Given the description of an element on the screen output the (x, y) to click on. 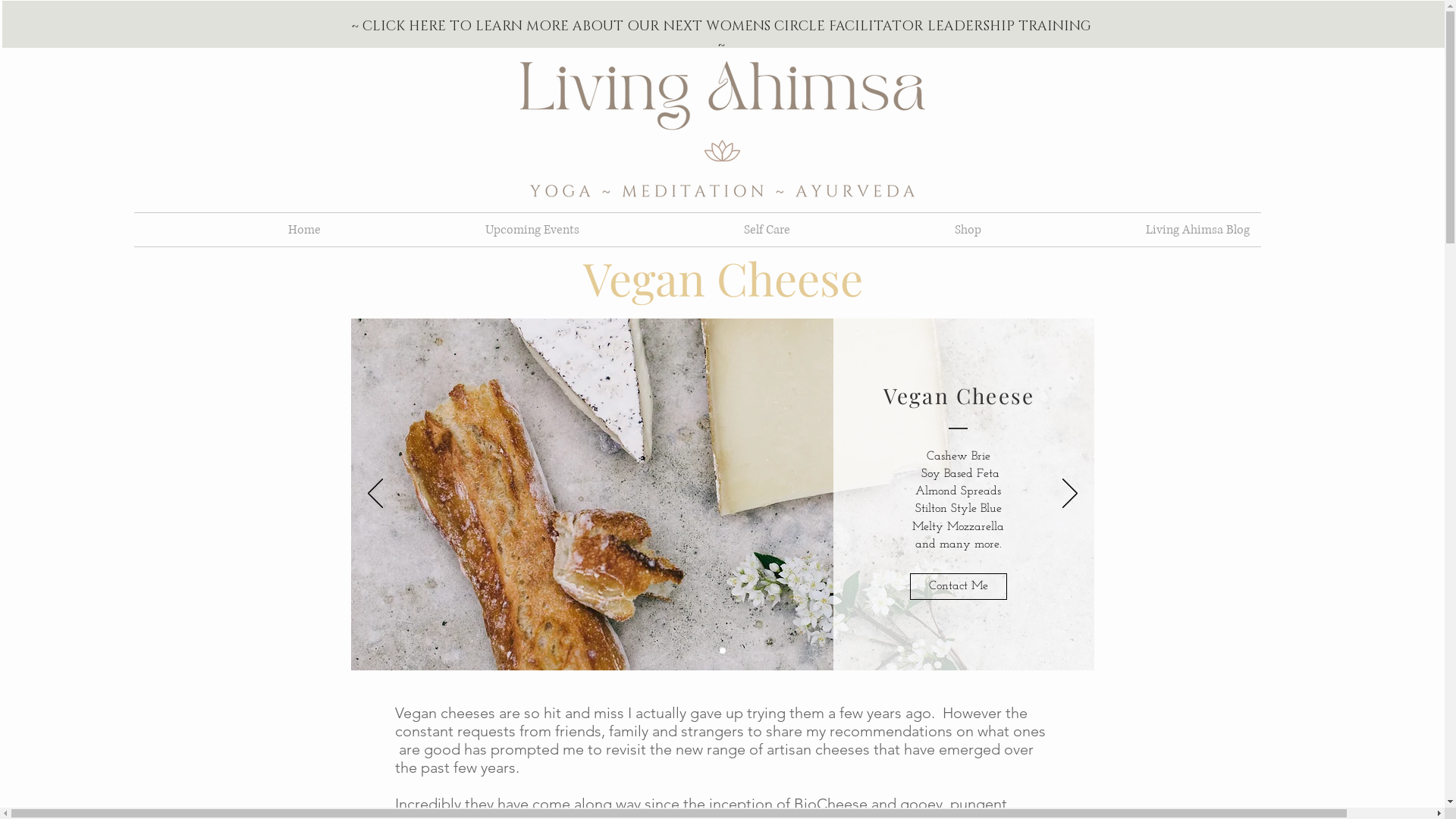
Upcoming Events Element type: text (461, 229)
Living Ahimsa Blog Element type: text (1125, 229)
Shop Element type: text (895, 229)
Home Element type: text (232, 229)
Self Care Element type: text (694, 229)
Contact Me Element type: text (958, 586)
